Given the description of an element on the screen output the (x, y) to click on. 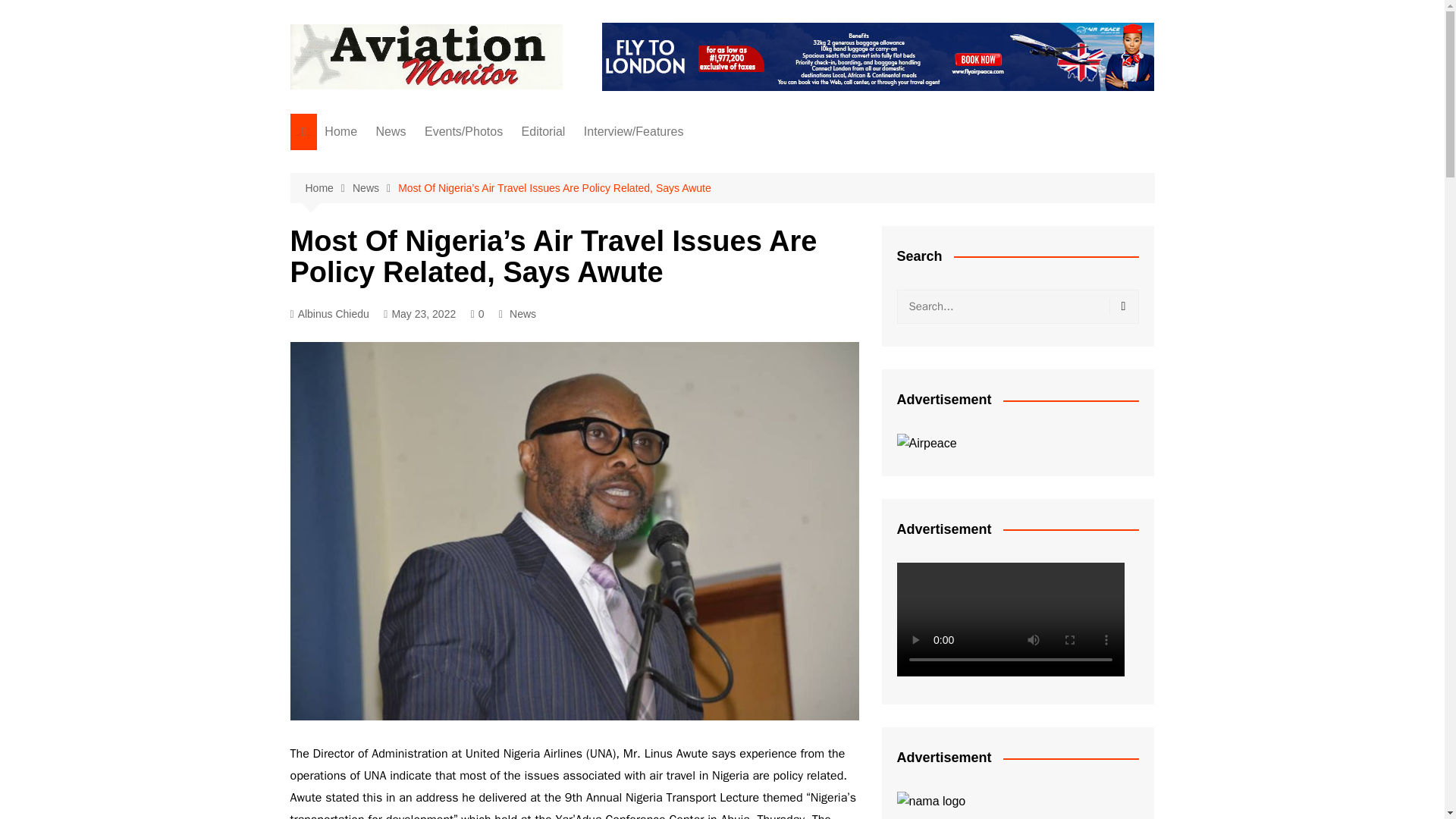
Home (341, 131)
News (374, 188)
May 23, 2022 (419, 313)
News (522, 313)
Home (328, 188)
Editorial (543, 131)
Albinus Chiedu (328, 313)
News (390, 131)
